Given the description of an element on the screen output the (x, y) to click on. 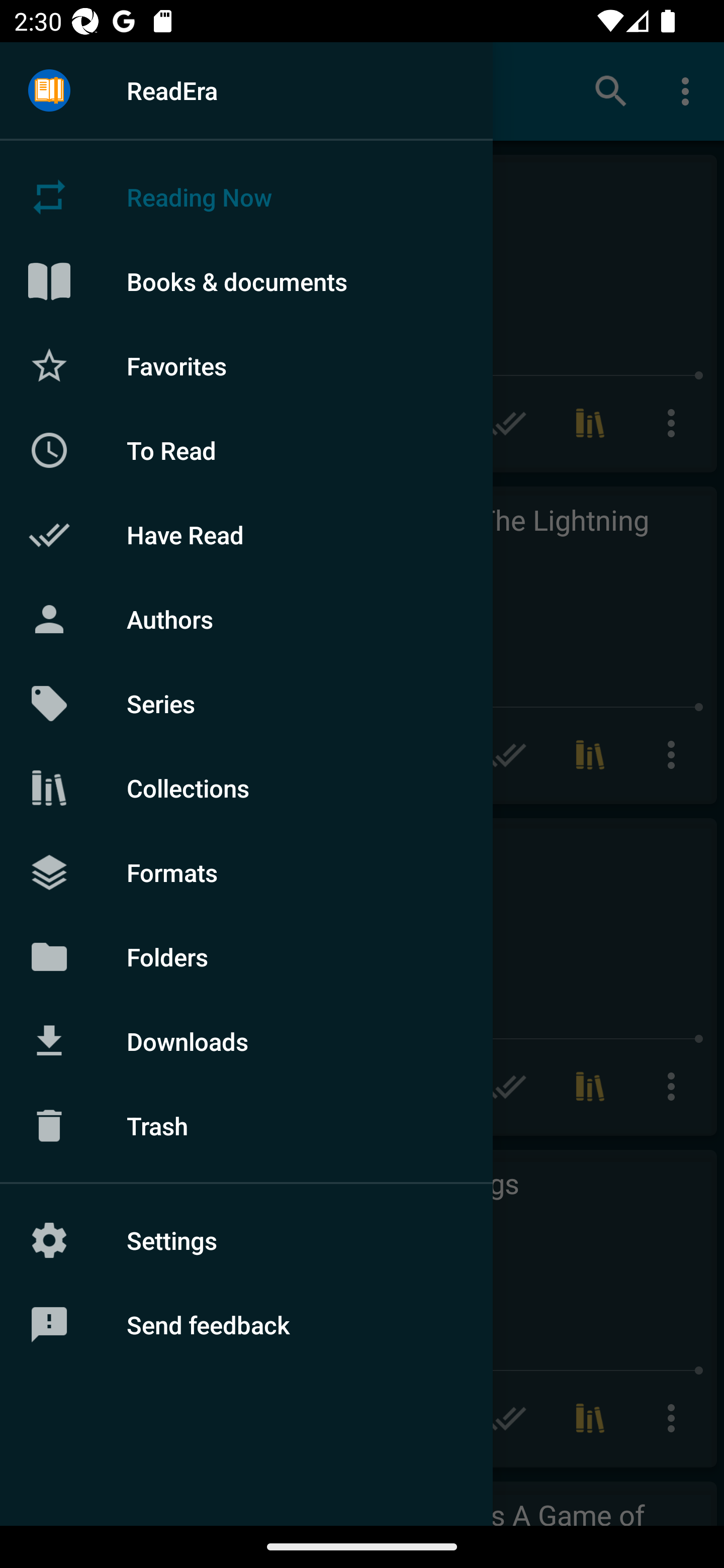
Menu (49, 91)
ReadEra (246, 89)
Search books & documents (611, 90)
More options (688, 90)
Reading Now (246, 197)
Books & documents (246, 281)
Favorites (246, 365)
To Read (246, 449)
Have Read (246, 534)
Authors (246, 619)
Series (246, 703)
Collections (246, 787)
Formats (246, 871)
Folders (246, 956)
Downloads (246, 1040)
Trash (246, 1125)
Settings (246, 1239)
Send feedback (246, 1324)
